Given the description of an element on the screen output the (x, y) to click on. 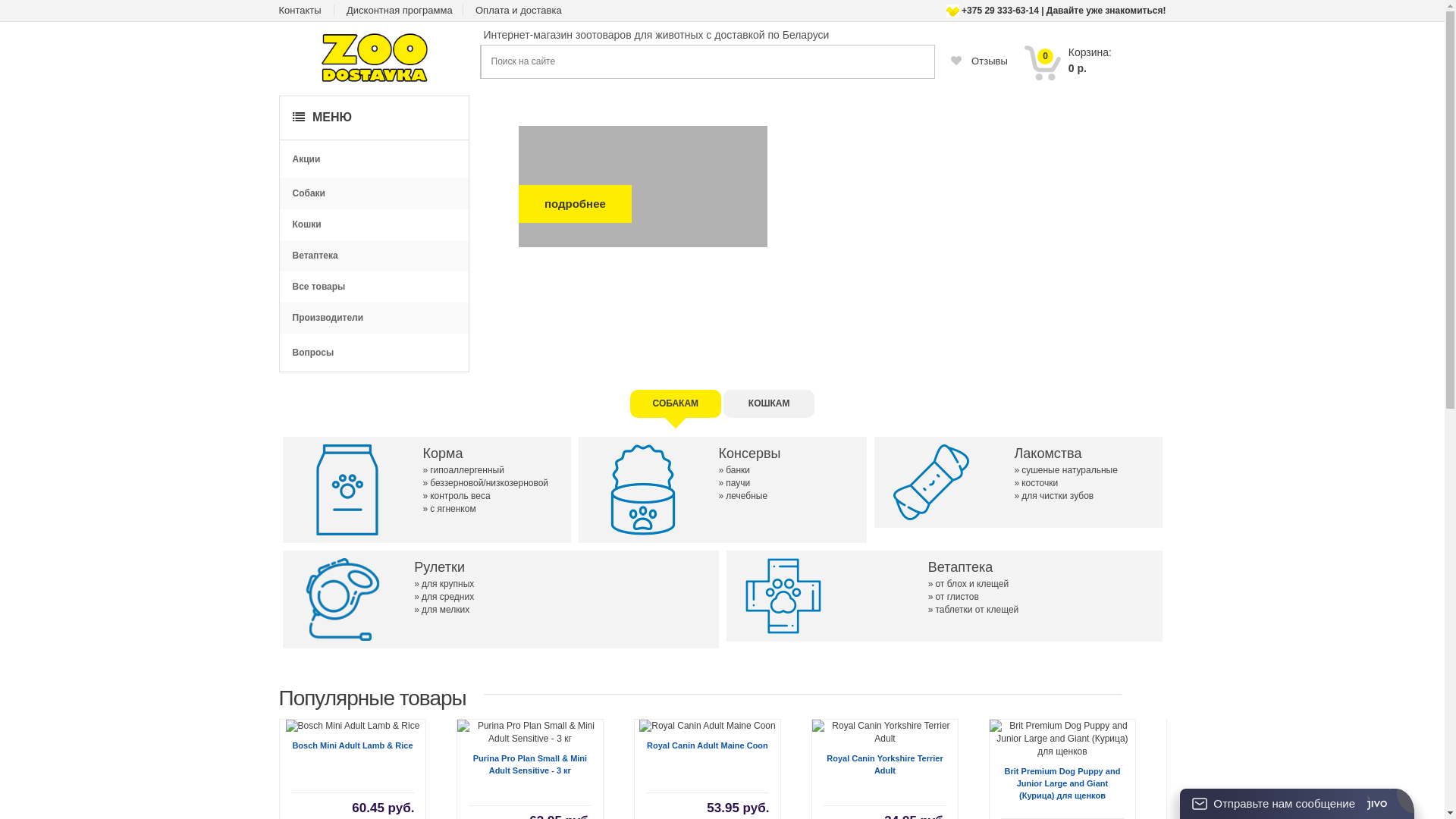
Royal Canin Yorkshire Terrier Adult Element type: text (884, 764)
Royal Canin Yorkshire Terrier Adult Element type: hover (884, 732)
Royal Canin Adult Maine Coon Element type: hover (707, 725)
Royal Canin Adult Maine Coon Element type: text (707, 744)
Bosch Mini Adult Lamb & Rice Element type: text (351, 744)
Bosch Mini Adult Lamb & Rice Element type: hover (352, 725)
